Given the description of an element on the screen output the (x, y) to click on. 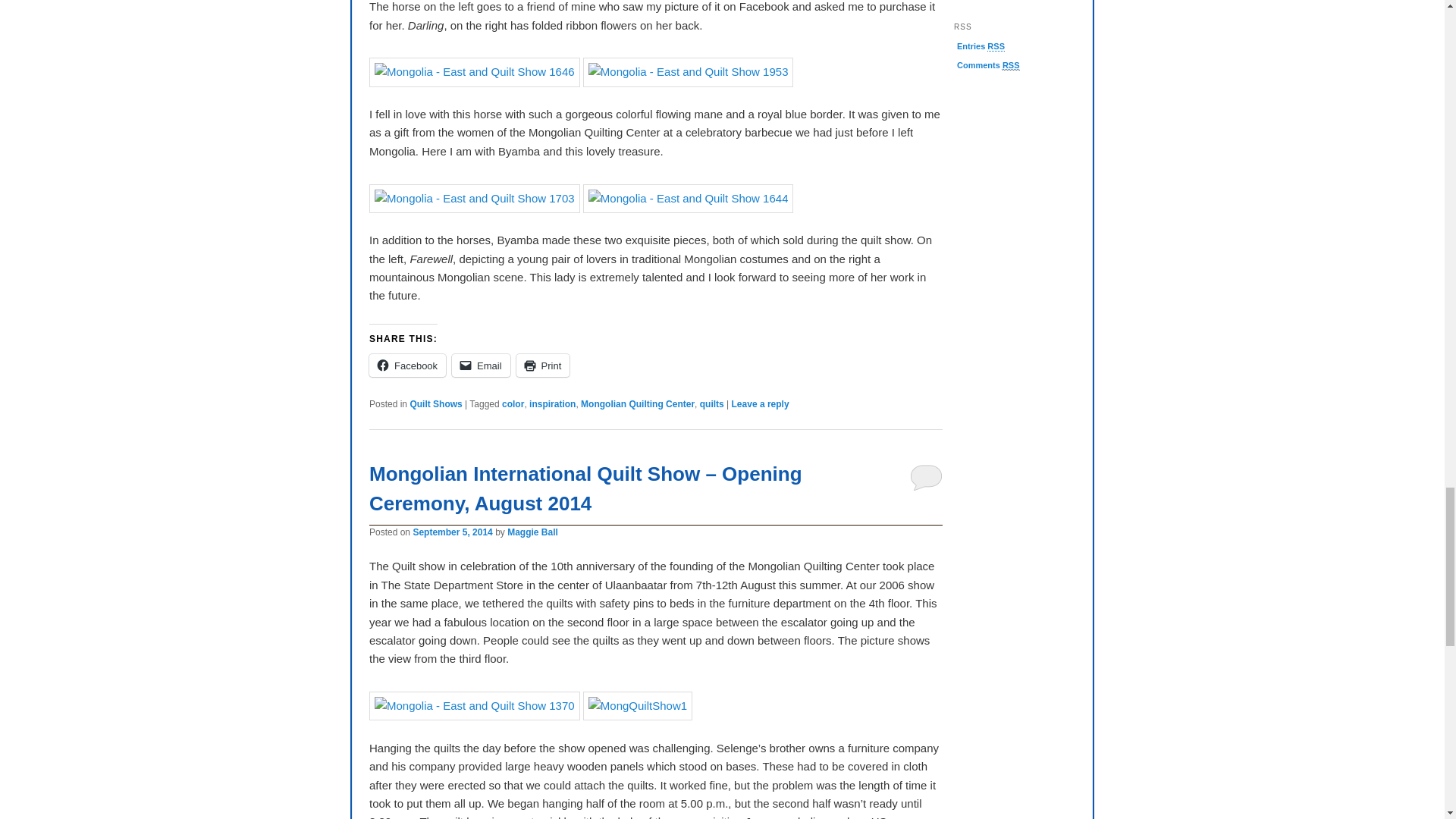
View all posts by Maggie Ball (531, 532)
12:32 pm (452, 532)
Click to print (543, 364)
Click to share on Facebook (407, 364)
Click to email a link to a friend (481, 364)
